Given the description of an element on the screen output the (x, y) to click on. 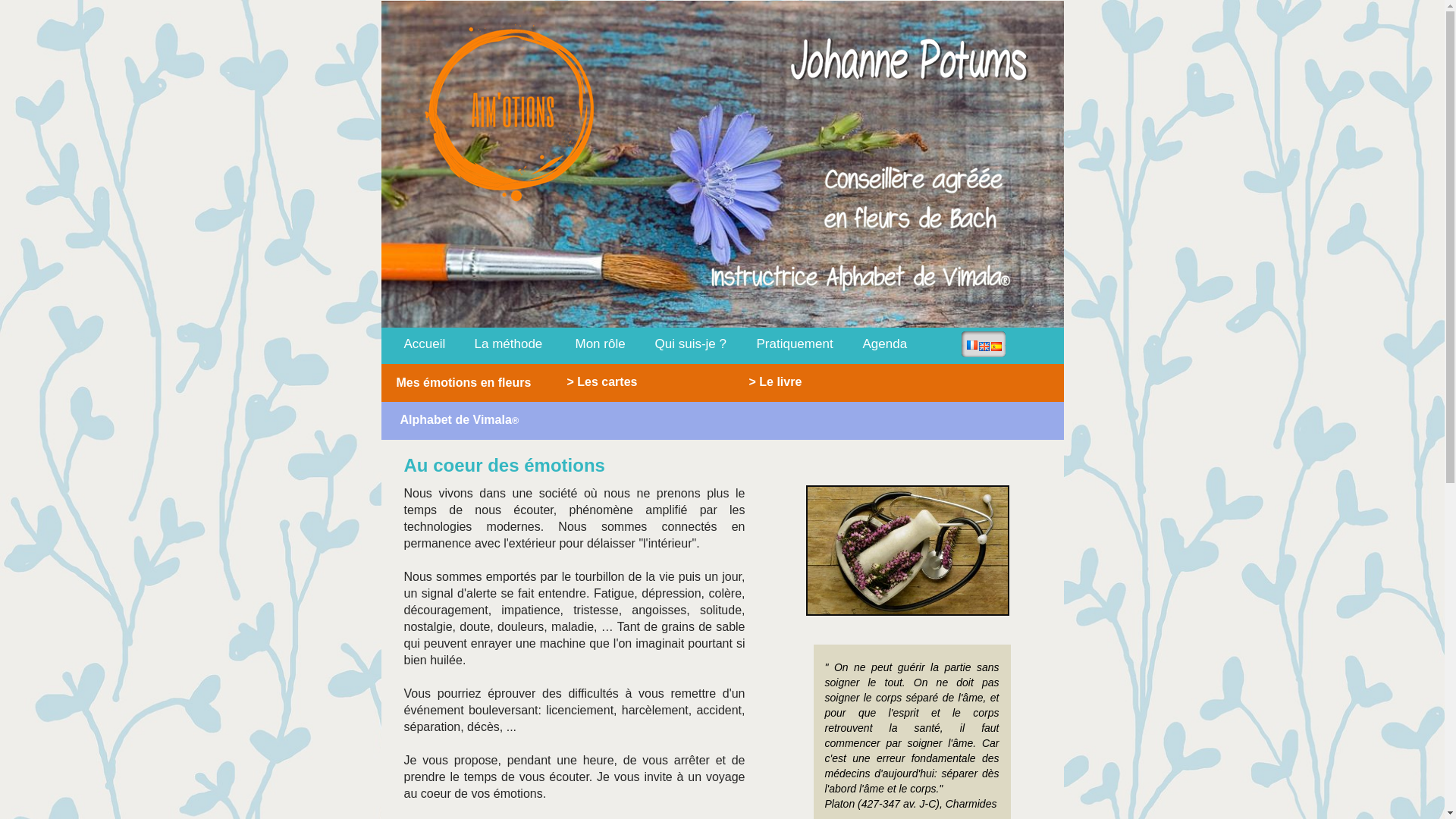
Agenda Element type: text (884, 343)
> Le livre Element type: text (790, 380)
> Les cartes Element type: text (630, 380)
Pratiquement Element type: text (794, 343)
> Le livre Element type: text (774, 380)
Qui suis-je ? Element type: text (690, 343)
Accueil Element type: text (424, 343)
Pratiquement Element type: text (794, 343)
Accueil Element type: text (418, 343)
> Les cartes Element type: text (601, 380)
Qui suis-je ? Element type: text (690, 343)
Agenda Element type: text (884, 343)
